Given the description of an element on the screen output the (x, y) to click on. 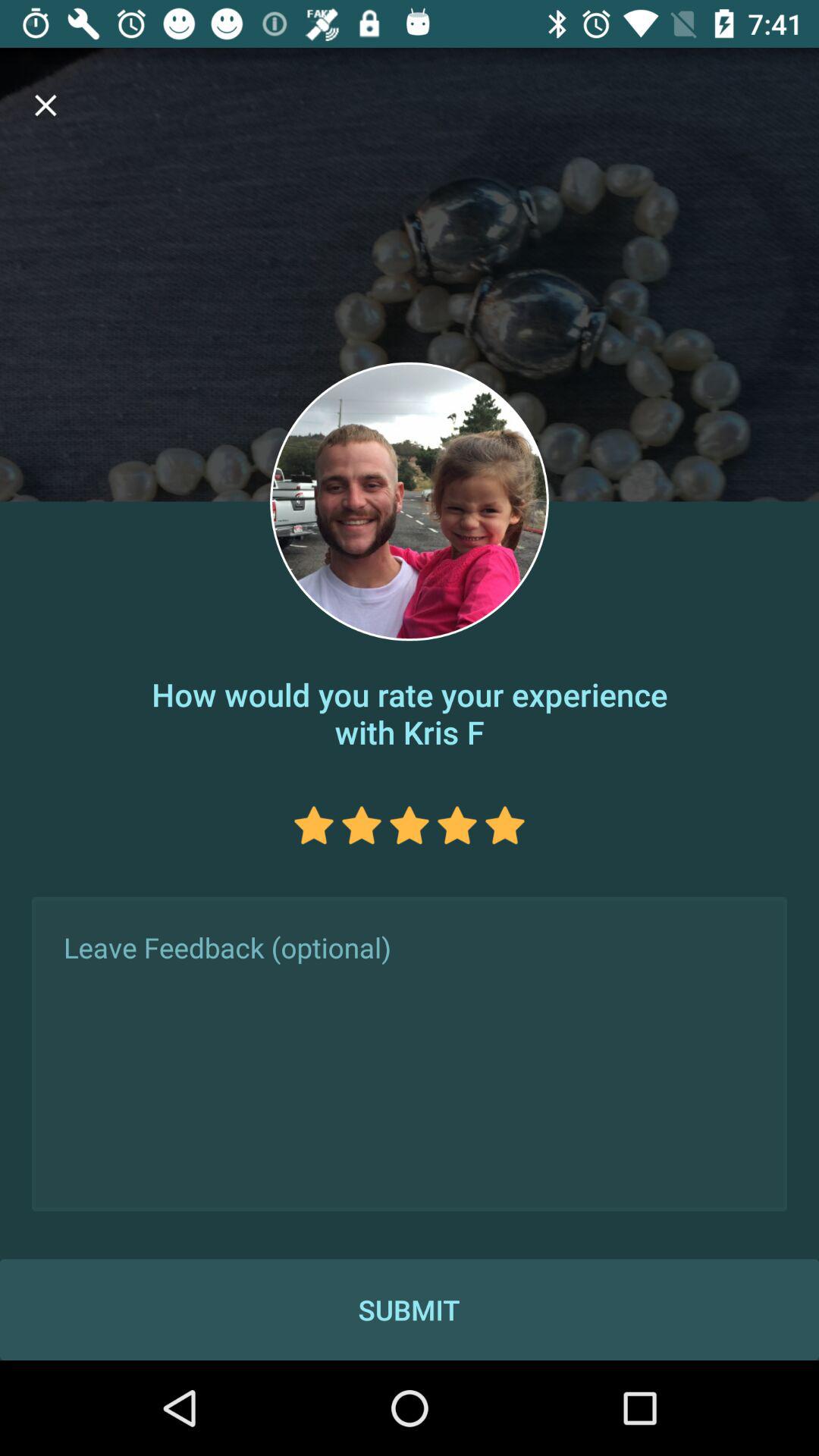
the 4th rating star (457, 825)
